Given the description of an element on the screen output the (x, y) to click on. 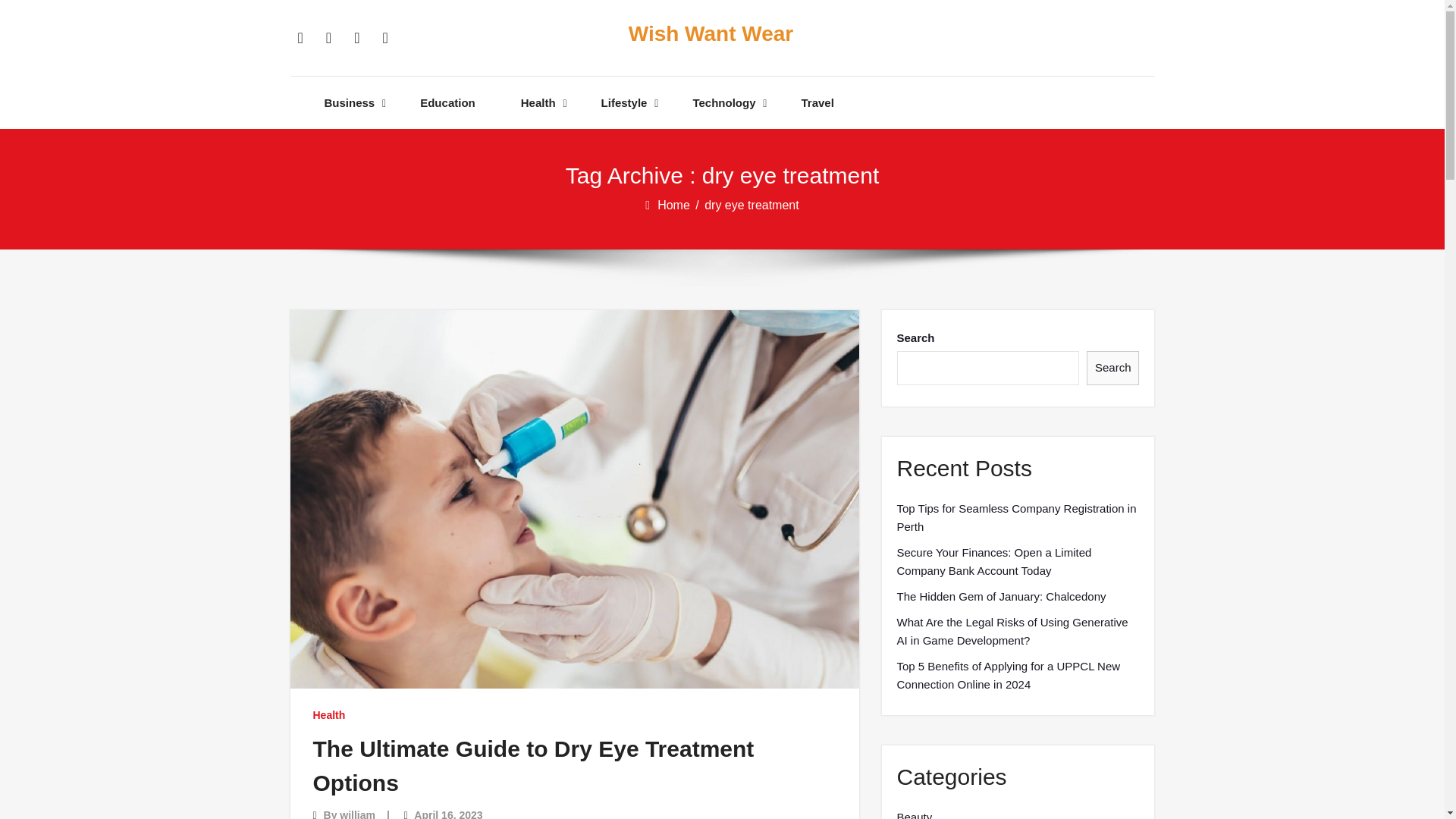
Wish Want Wear (710, 34)
Top Tips for Seamless Company Registration in Perth (1017, 517)
Search (1113, 367)
The Ultimate Guide to Dry Eye Treatment Options (533, 765)
Education (448, 102)
Business (349, 102)
The Hidden Gem of January: Chalcedony (1000, 597)
Health (329, 714)
